Given the description of an element on the screen output the (x, y) to click on. 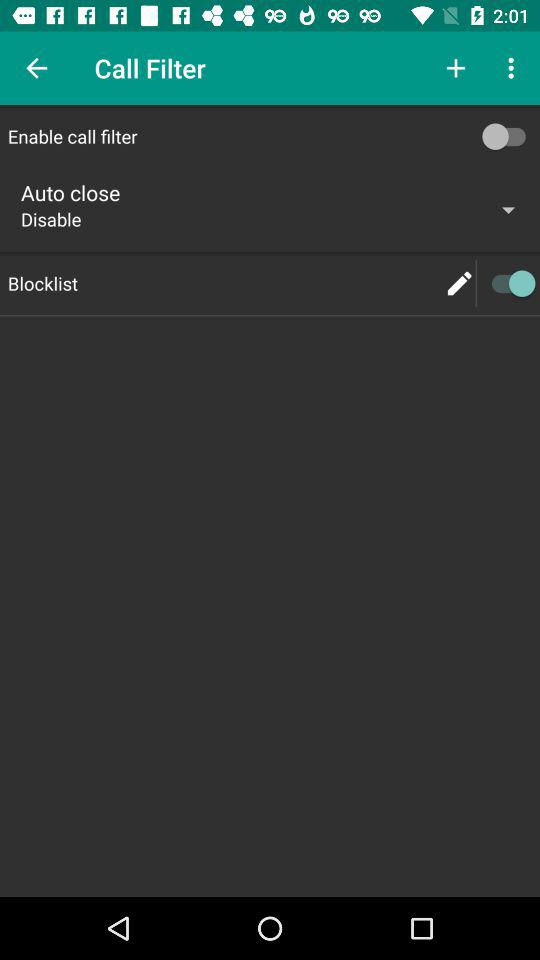
toggle blocklist (508, 283)
